Given the description of an element on the screen output the (x, y) to click on. 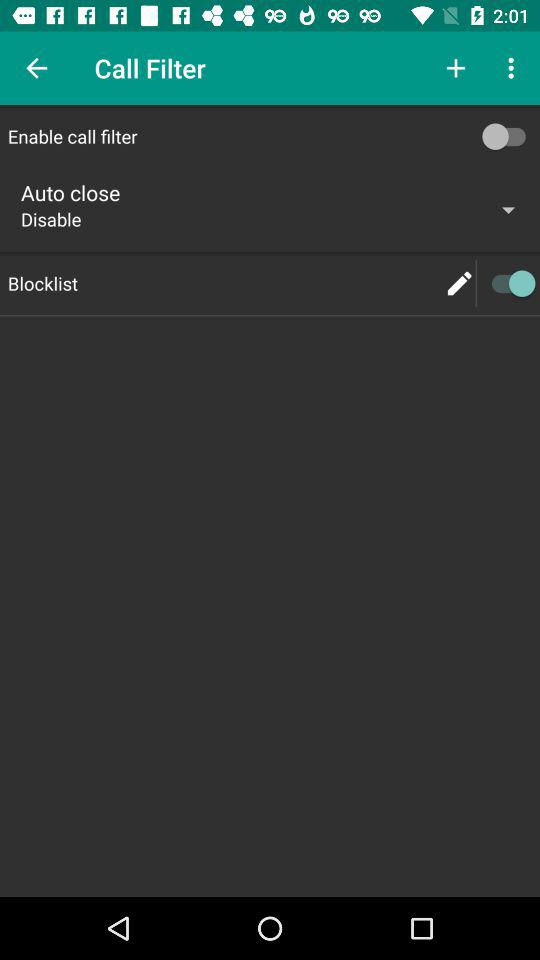
toggle blocklist (508, 283)
